Given the description of an element on the screen output the (x, y) to click on. 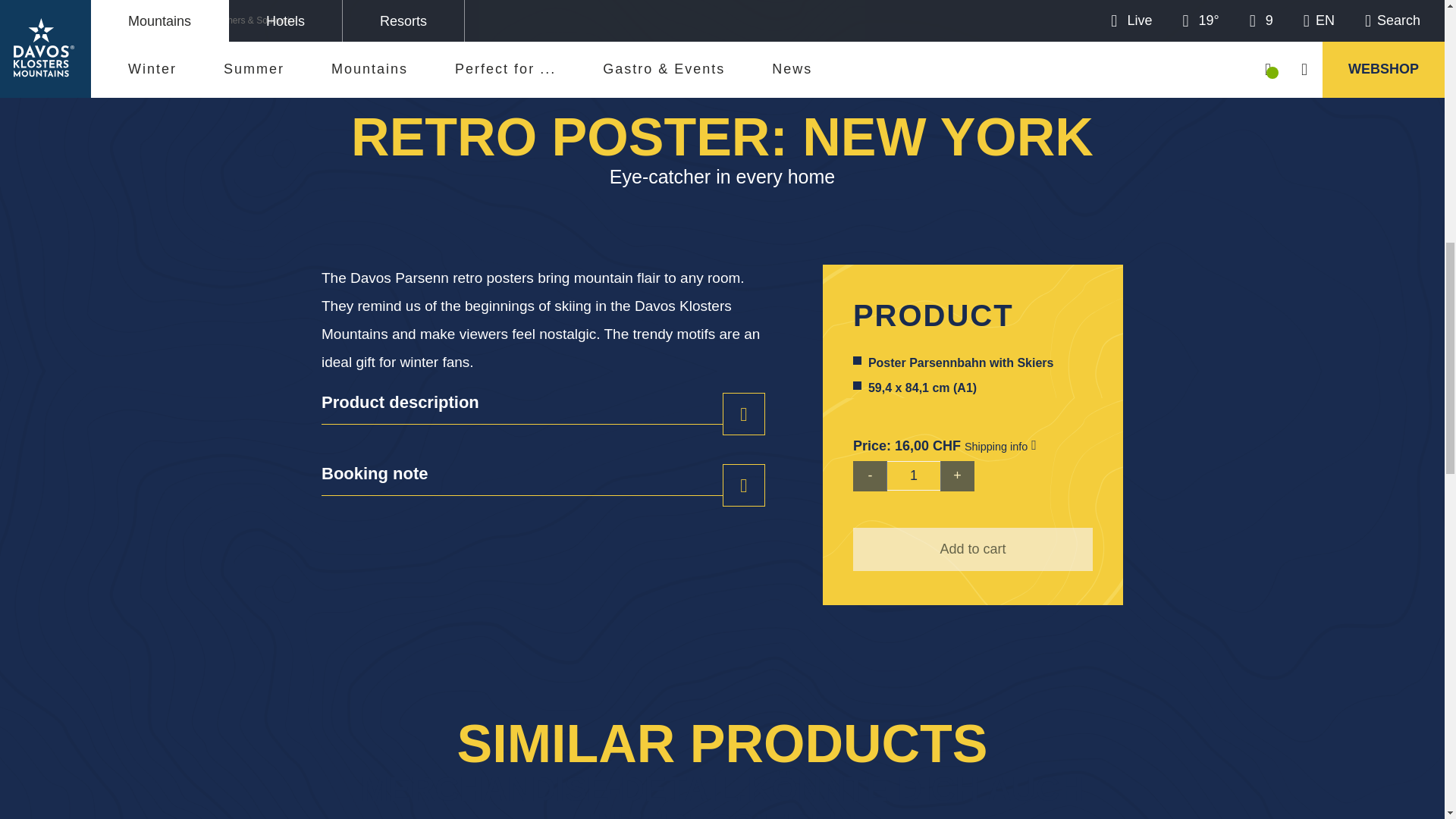
1 (913, 475)
